Given the description of an element on the screen output the (x, y) to click on. 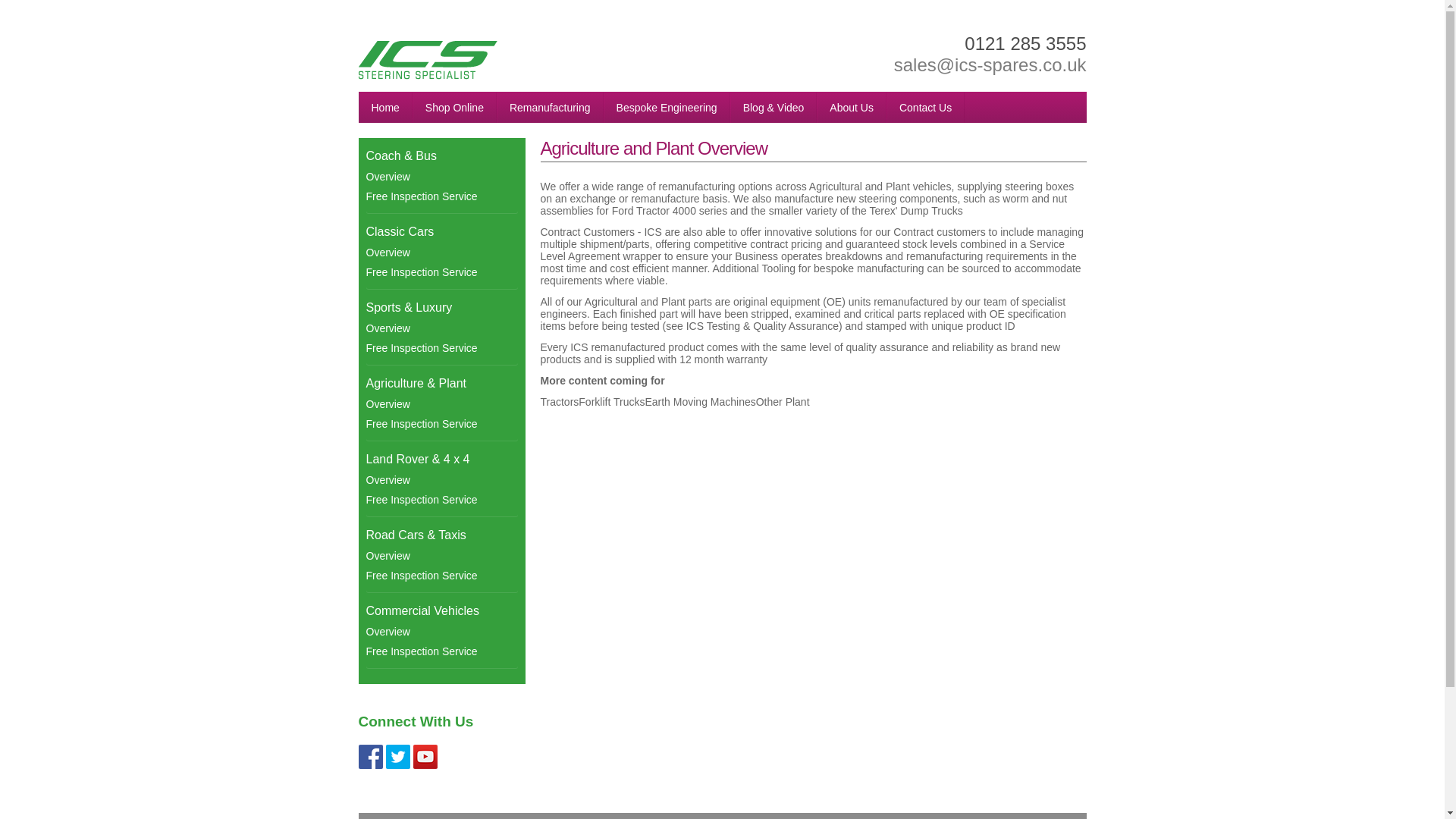
Overview (440, 479)
Free Inspection Service (440, 196)
Overview (440, 252)
Overview (440, 403)
Shop Online (454, 107)
Free Inspection Service (440, 424)
Remanufacturing (550, 107)
Free Inspection Service (440, 347)
Home (385, 107)
Free Inspection Service (440, 271)
Remanufacturing (550, 107)
Free Inspection Service (440, 499)
Overview (440, 328)
Bespoke Engineering (667, 107)
Bespoke Engineering (667, 107)
